Given the description of an element on the screen output the (x, y) to click on. 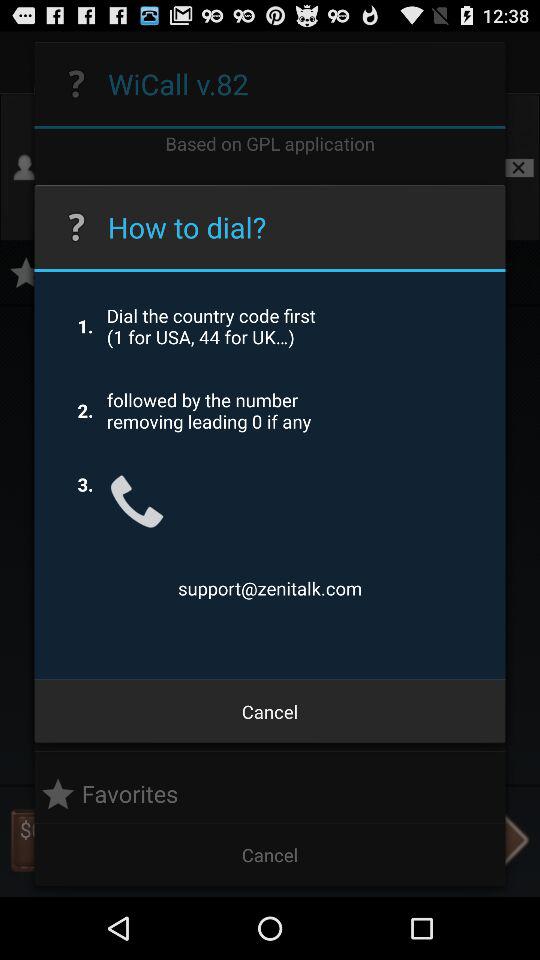
open cancel icon (269, 711)
